Given the description of an element on the screen output the (x, y) to click on. 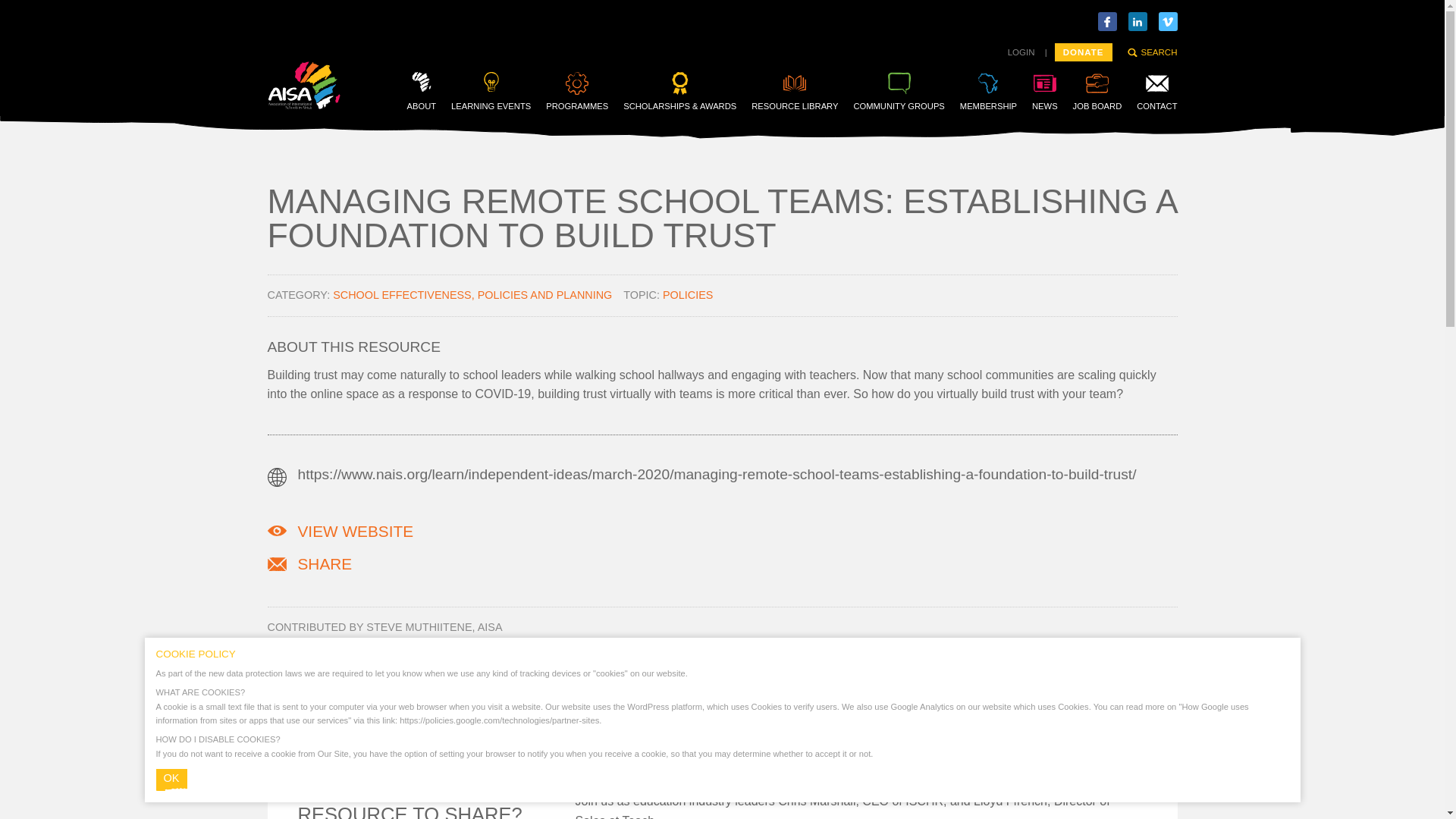
Connect with us on Vimeo (1167, 21)
AISA Resource Library (794, 91)
Connect with us on Facebook (1106, 21)
AISA (302, 105)
JOB BOARD (1097, 91)
SCHOOL EFFECTIVENESS, POLICIES AND PLANNING (472, 295)
POLICIES (687, 295)
AISA Job Board (1097, 91)
AISA Programmes (577, 91)
Connect with us on LinkedIn (1137, 21)
VIEW WEBSITE (355, 530)
COMMUNITY GROUPS (898, 91)
Contact us (1156, 91)
Search the AISA website (1151, 51)
PROGRAMMES (577, 91)
